Given the description of an element on the screen output the (x, y) to click on. 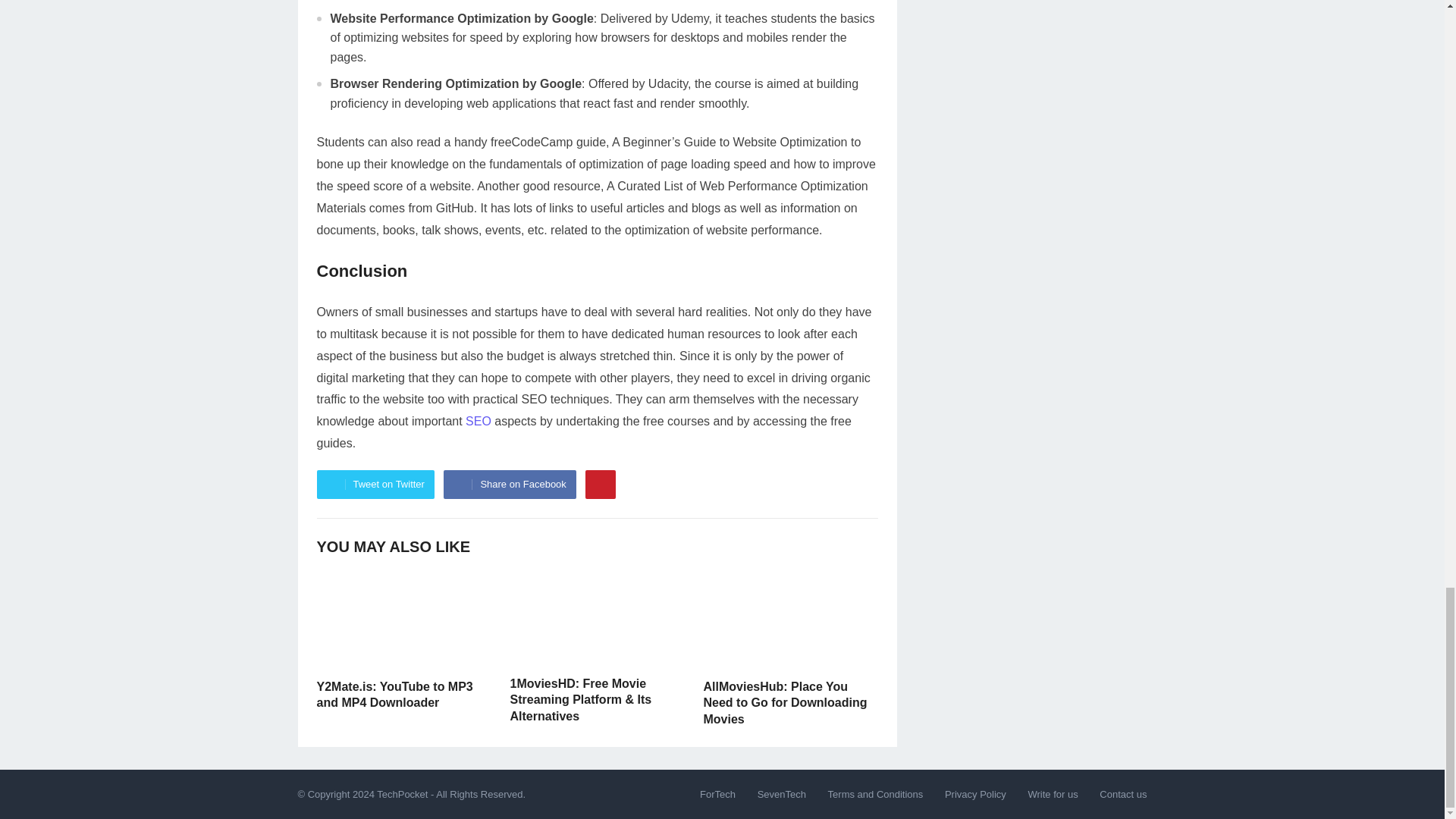
Tweet on Twitter (375, 484)
Y2Mate.is: YouTube to MP3 and MP4 Downloader (395, 695)
Pinterest (600, 484)
AllMoviesHub: Place You Need to Go for Downloading Movies (785, 702)
Share on Facebook (509, 484)
SEO (478, 420)
